Given the description of an element on the screen output the (x, y) to click on. 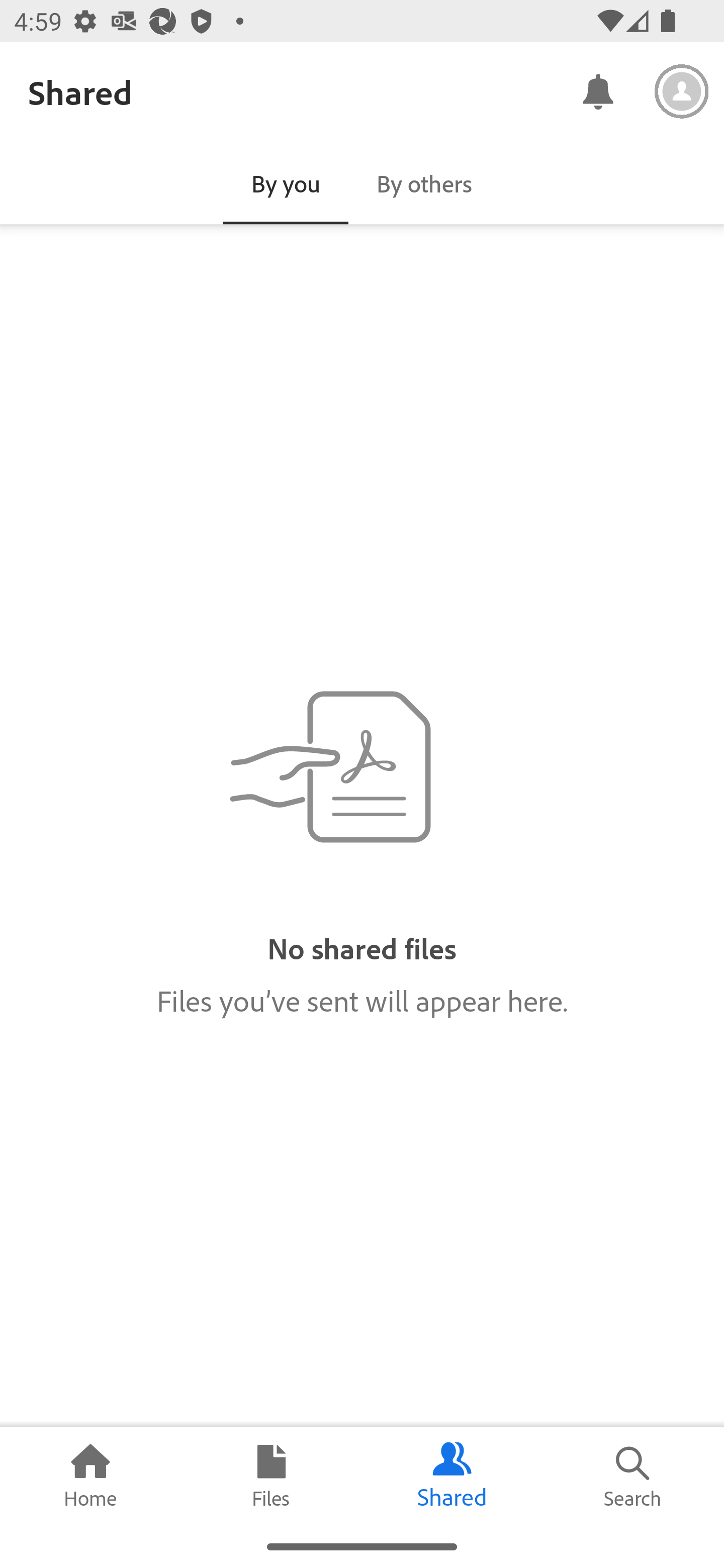
Notifications (597, 90)
Settings (681, 91)
By you (285, 183)
By others (424, 183)
Home (90, 1475)
Files (271, 1475)
Shared (452, 1475)
Search (633, 1475)
